Given the description of an element on the screen output the (x, y) to click on. 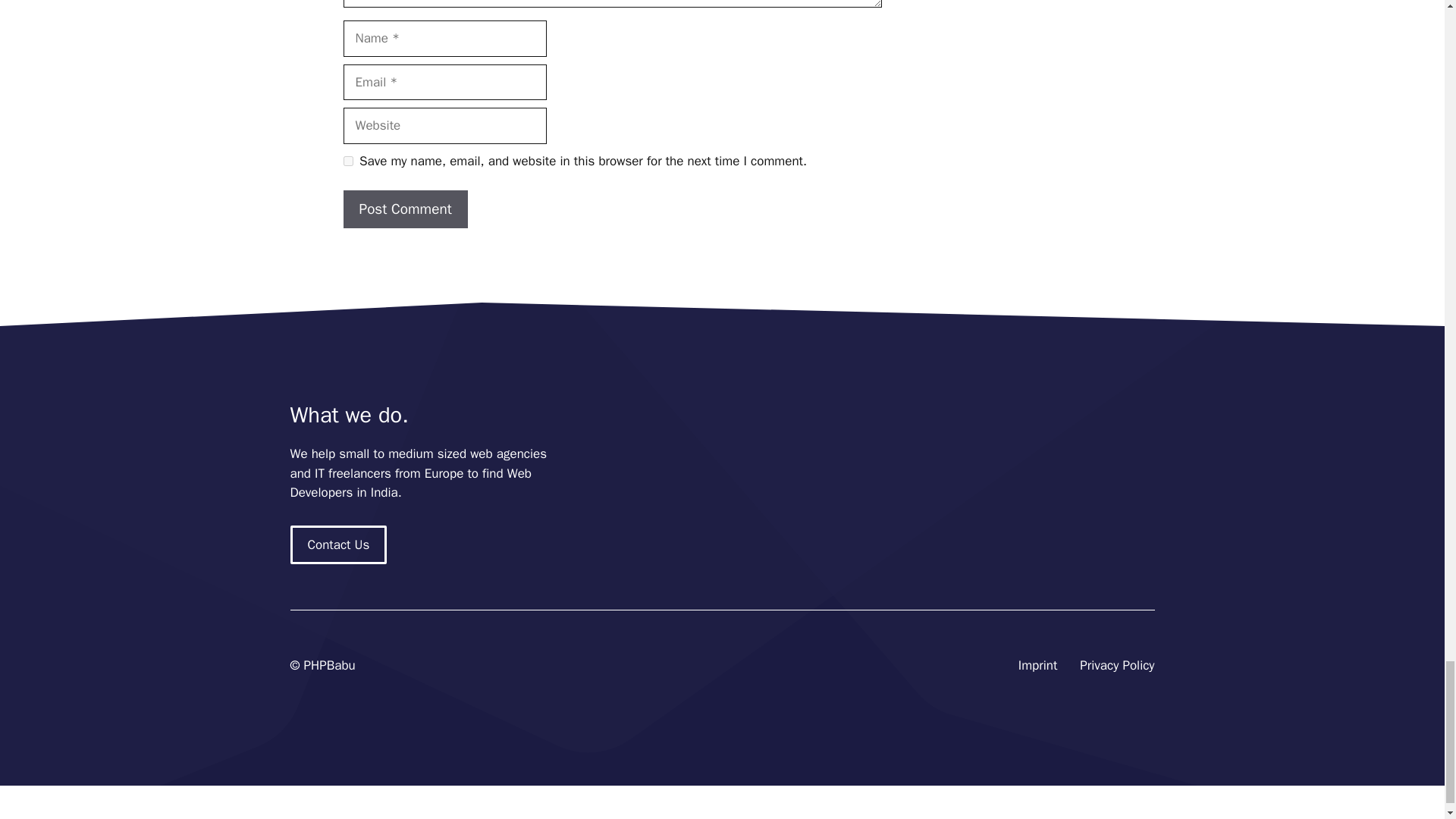
Contact Us (338, 545)
Post Comment (404, 209)
Imprint (1037, 665)
Post Comment (404, 209)
yes (347, 161)
Privacy Policy (1117, 665)
